Given the description of an element on the screen output the (x, y) to click on. 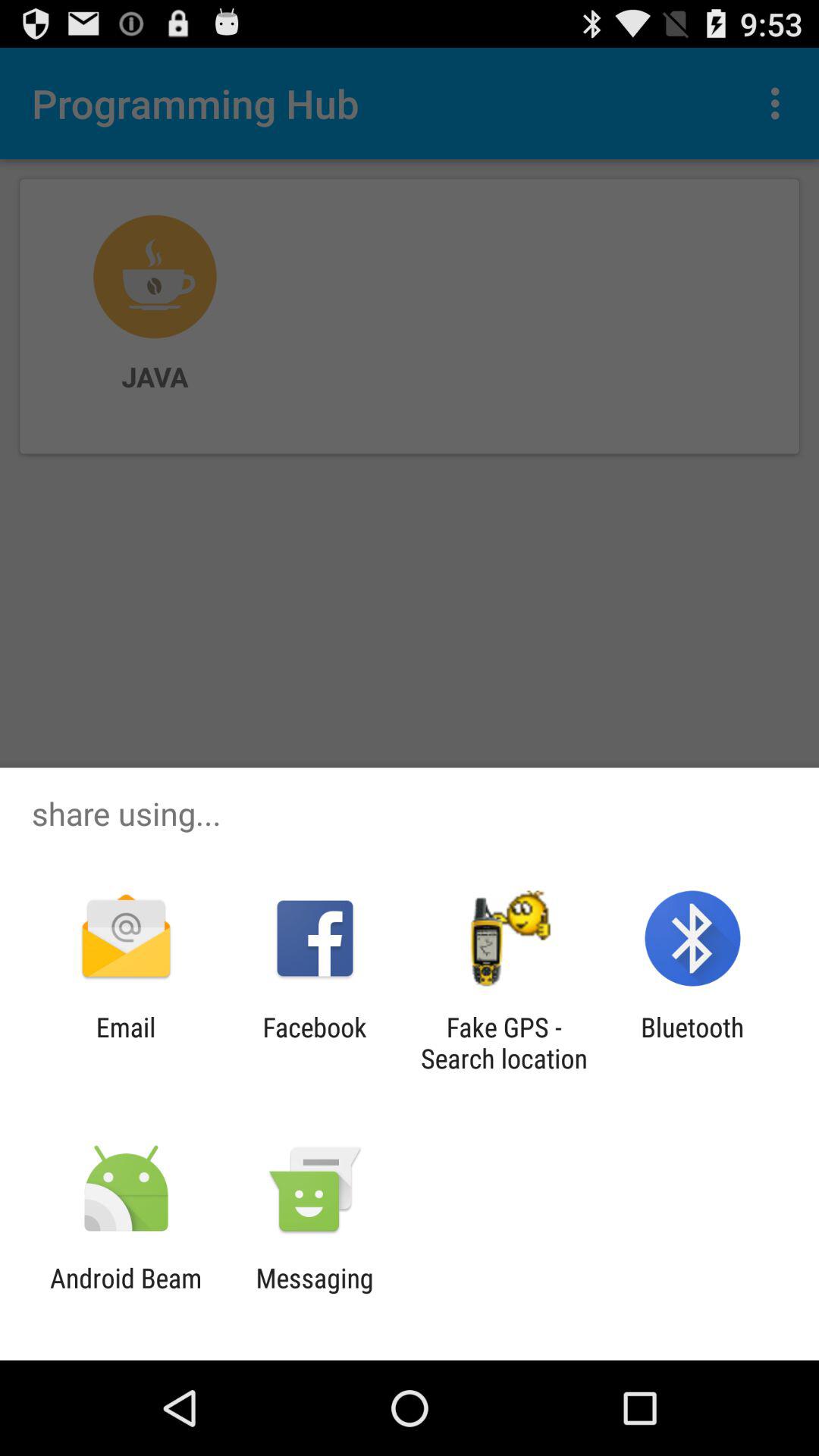
choose the icon next to facebook item (125, 1042)
